Given the description of an element on the screen output the (x, y) to click on. 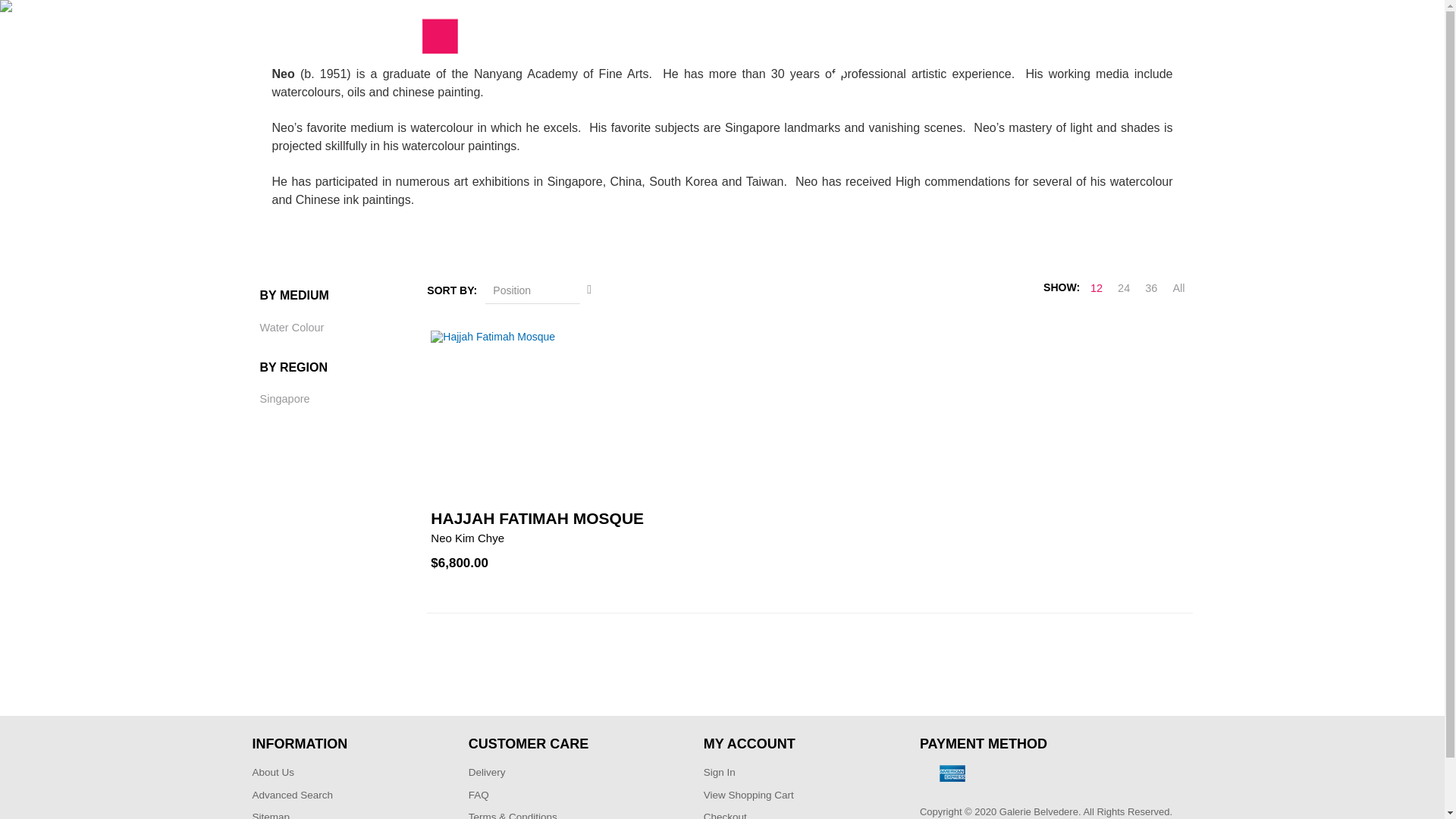
Go to Home Page (630, 104)
PAINTINGS (685, 48)
ABOUT US (603, 48)
HOME (538, 48)
PRINTS (762, 48)
Galerie Belvedere (354, 42)
